Given the description of an element on the screen output the (x, y) to click on. 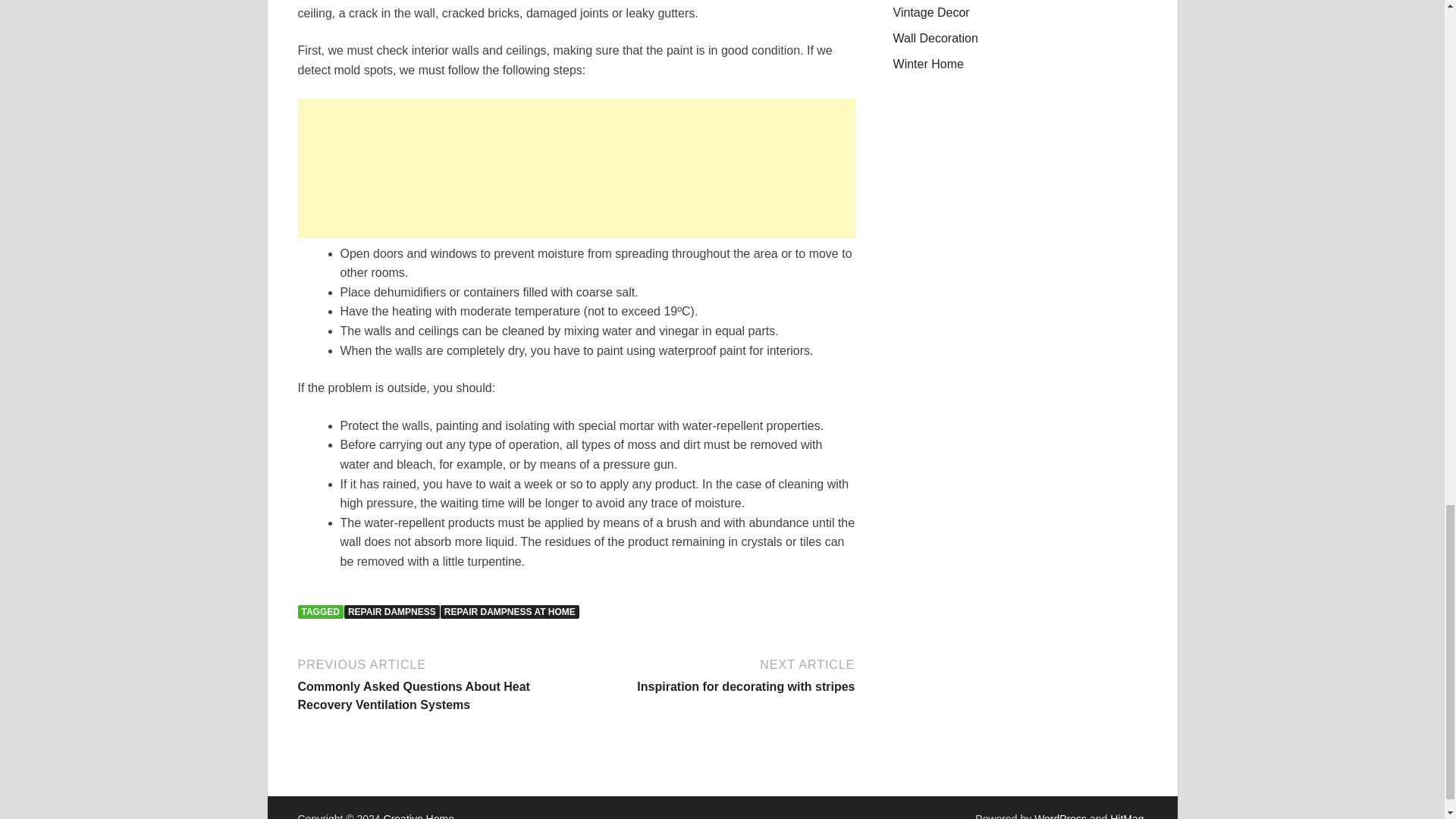
REPAIR DAMPNESS AT HOME (717, 674)
REPAIR DAMPNESS (510, 612)
Advertisement (391, 612)
